Given the description of an element on the screen output the (x, y) to click on. 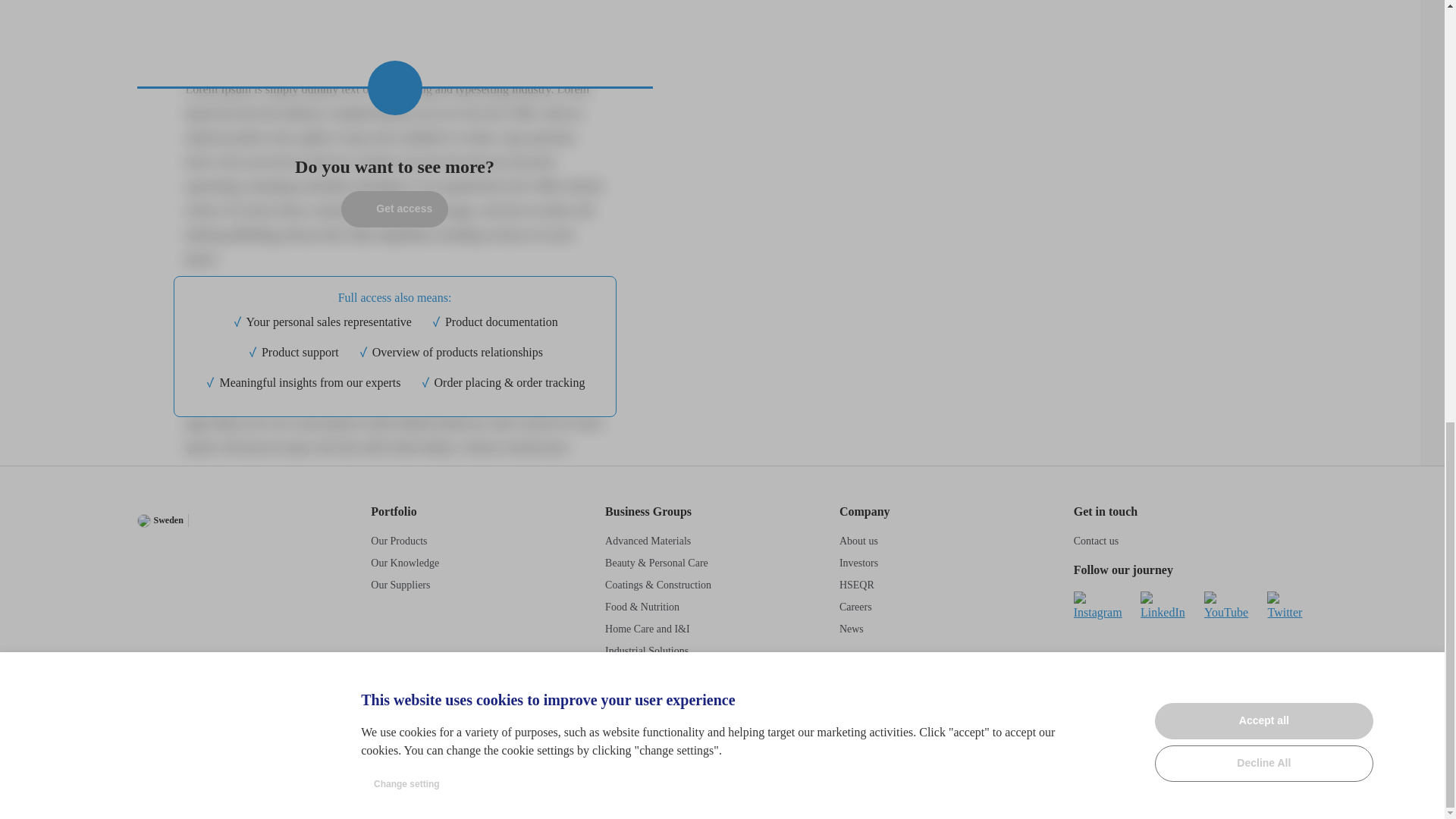
Get access (394, 208)
Open Dropdown (226, 520)
Sweden (159, 519)
